Given the description of an element on the screen output the (x, y) to click on. 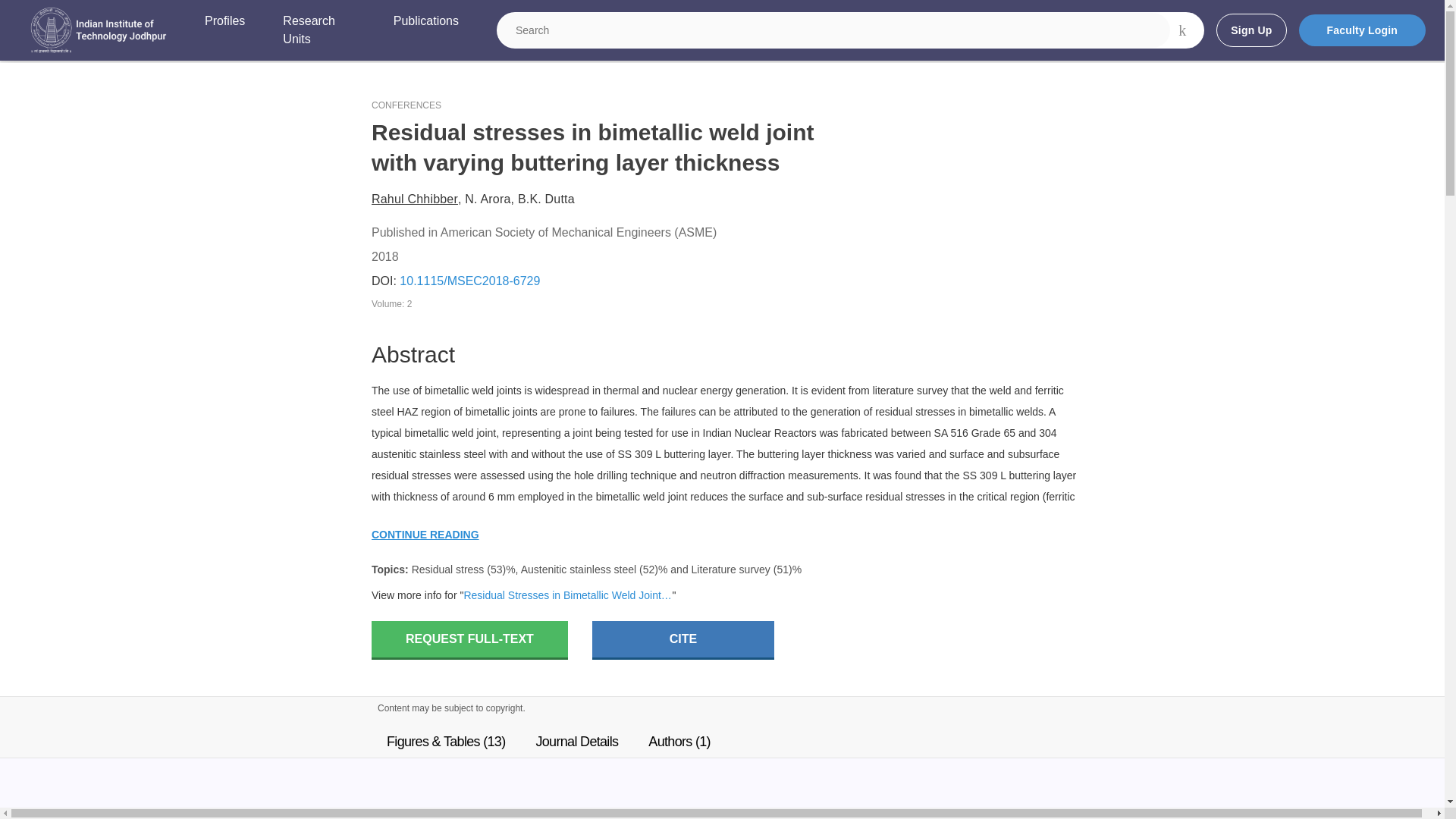
Publications (425, 30)
REQUEST FULL-TEXT (469, 640)
Rahul Chhibber (414, 198)
Sign Up (1250, 29)
Austenitic stainless steel (579, 569)
Institution logo (98, 30)
Literature survey (730, 569)
Faculty Login (1361, 29)
Journal Details (576, 741)
